Given the description of an element on the screen output the (x, y) to click on. 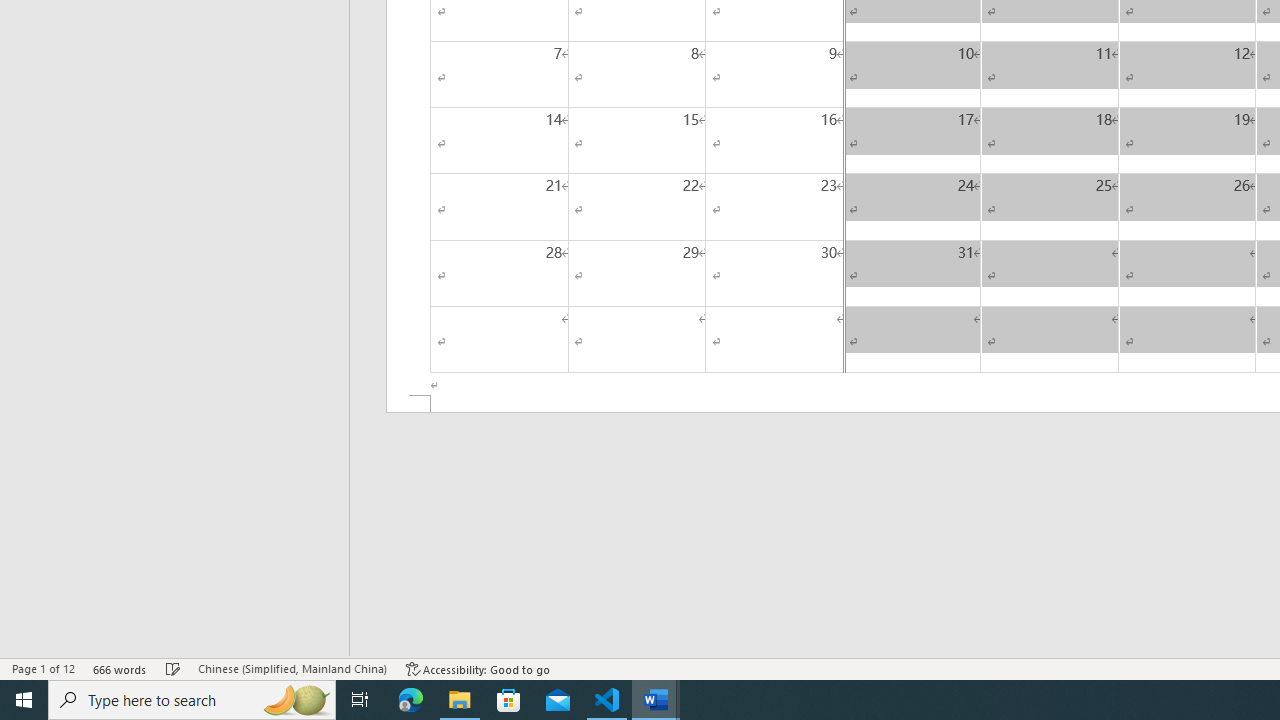
Page Number Page 1 of 12 (43, 668)
